Given the description of an element on the screen output the (x, y) to click on. 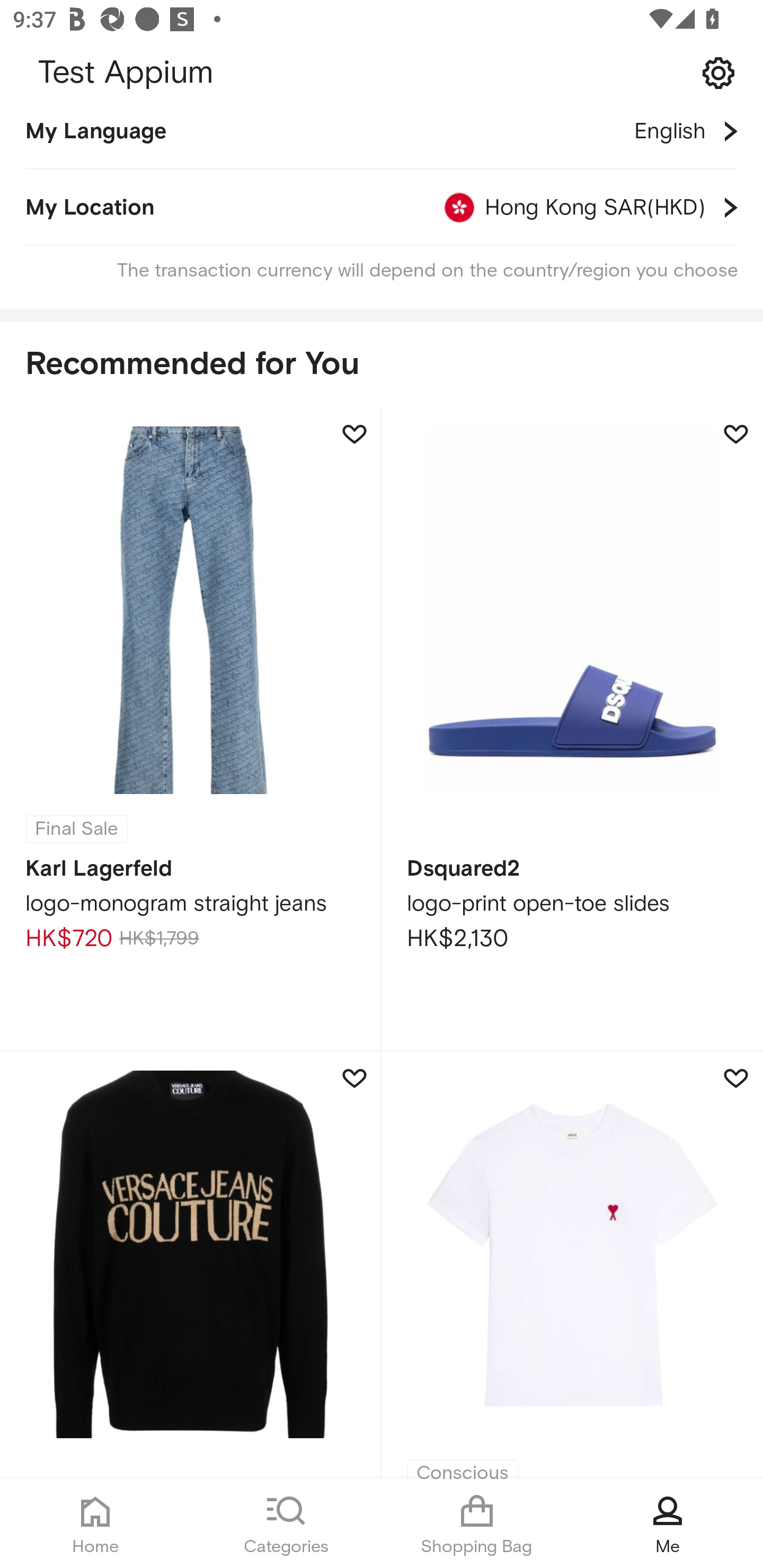
Test Appium (381, 72)
My Language English (381, 140)
My Location Hong Kong SAR(HKD) (381, 207)
Dsquared2 logo-print open-toe slides HK$2,130 (572, 729)
Conscious (572, 1265)
Home (95, 1523)
Categories (285, 1523)
Shopping Bag (476, 1523)
